Given the description of an element on the screen output the (x, y) to click on. 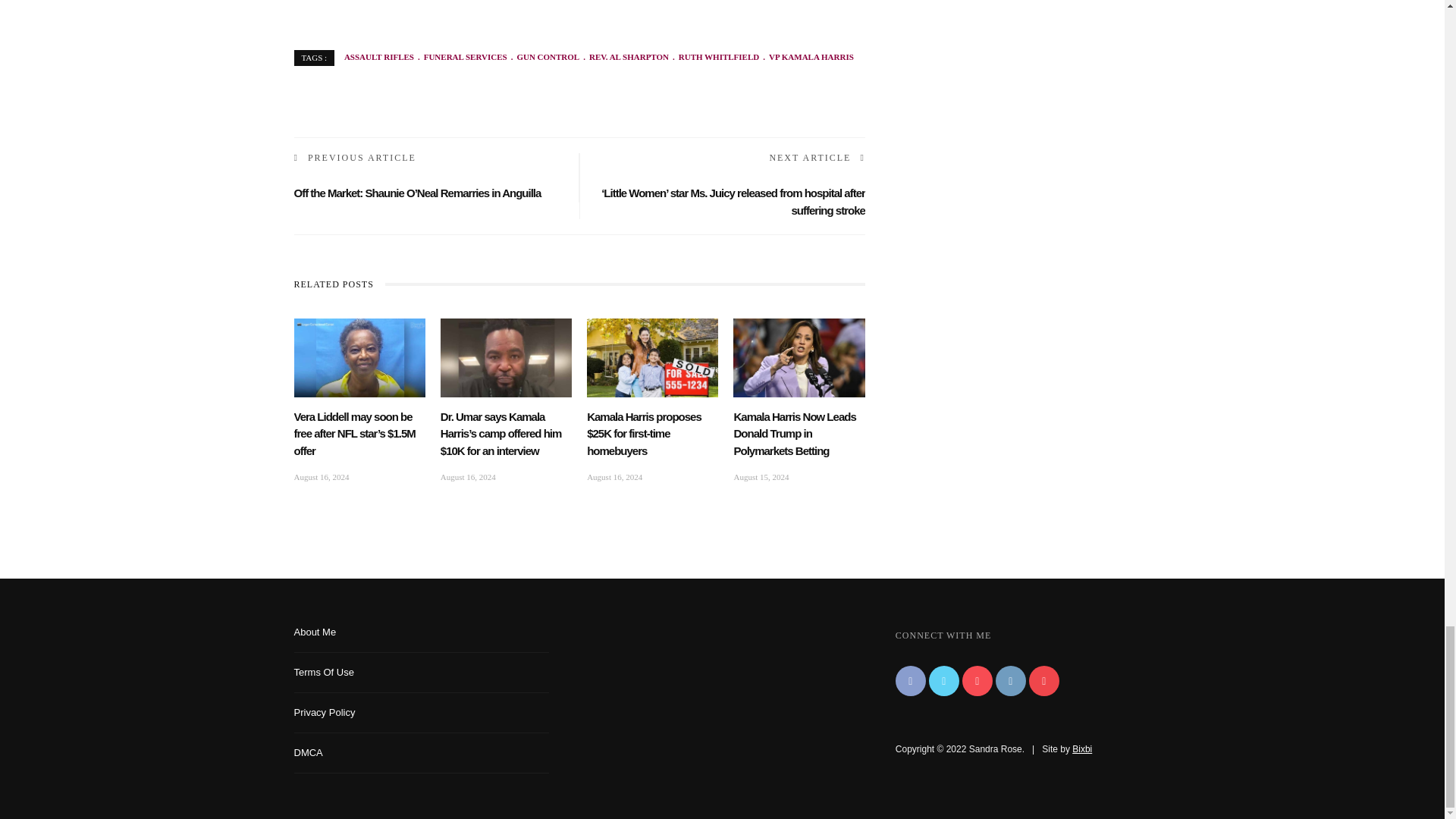
FUNERAL SERVICES (459, 56)
Kamala Harris Now Leads Donald Trump in Polymarkets Betting (794, 432)
Kamala Harris Now Leads Donald Trump in Polymarkets Betting (798, 356)
ASSAULT RIFLES (378, 56)
